Given the description of an element on the screen output the (x, y) to click on. 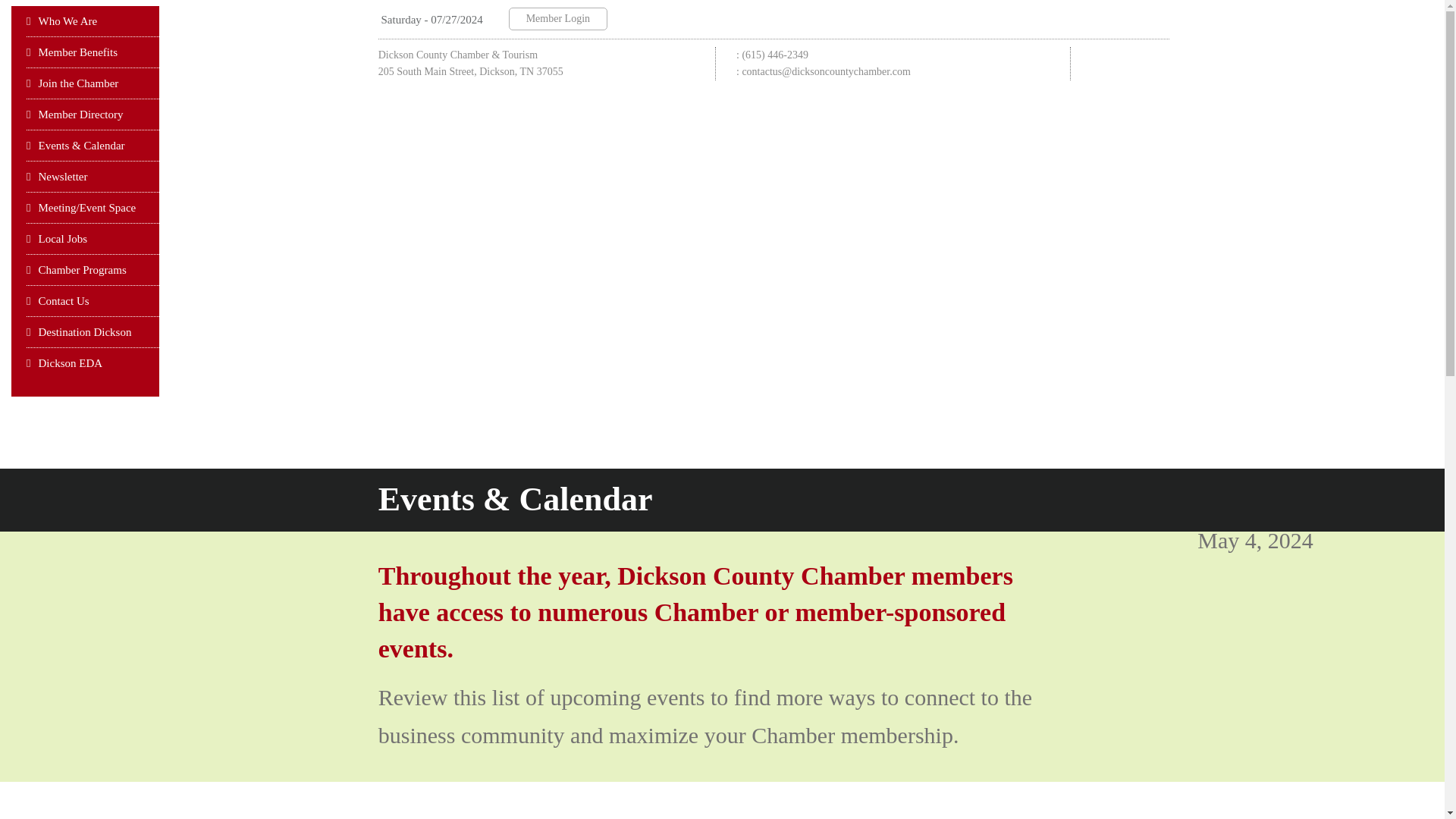
Member Directory (92, 114)
Join the Chamber (92, 83)
Destination Dickson (92, 332)
Newsletter (92, 176)
Member Benefits (92, 51)
Chamber Programs (92, 269)
Dickson EDA (92, 372)
Who We Are (92, 20)
Member Login (557, 18)
Page Title (900, 499)
Contact Us (92, 300)
Local Jobs (92, 238)
